Given the description of an element on the screen output the (x, y) to click on. 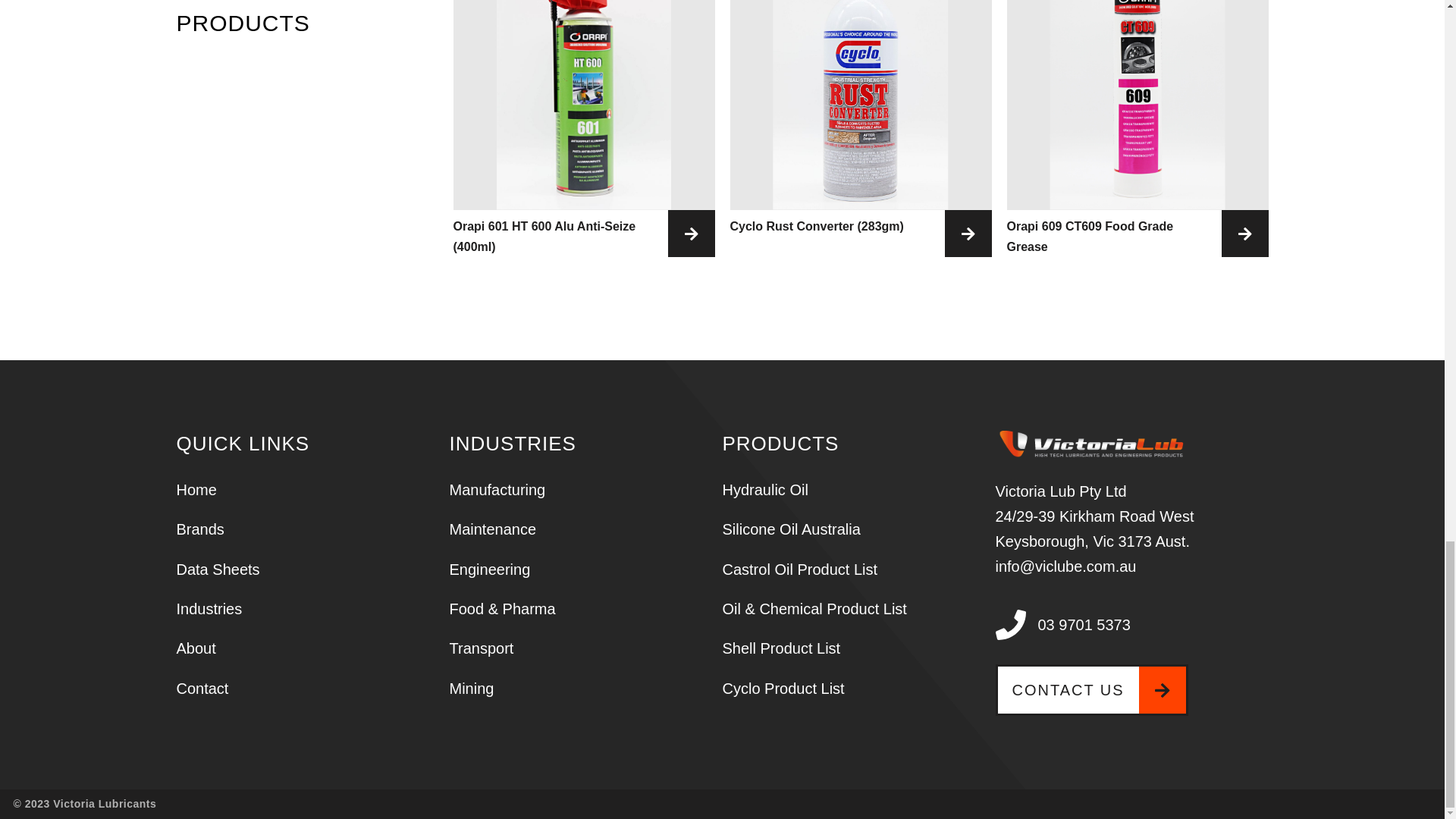
Castrol Oil Product List (799, 569)
Shell Product List (781, 647)
Orapi 609 CT609 Food Grade Grease (1137, 236)
Engineering (488, 569)
About (195, 647)
Orapi 609 CT609 Food Grade Grease (1137, 236)
Silicone Oil Australia (791, 528)
Hydraulic Oil (765, 489)
Cyclo Product List (783, 688)
Manufacturing (496, 489)
Maintenance (491, 528)
CONTACT US (1091, 689)
Industries (208, 608)
Mining (470, 688)
Data Sheets (217, 569)
